Given the description of an element on the screen output the (x, y) to click on. 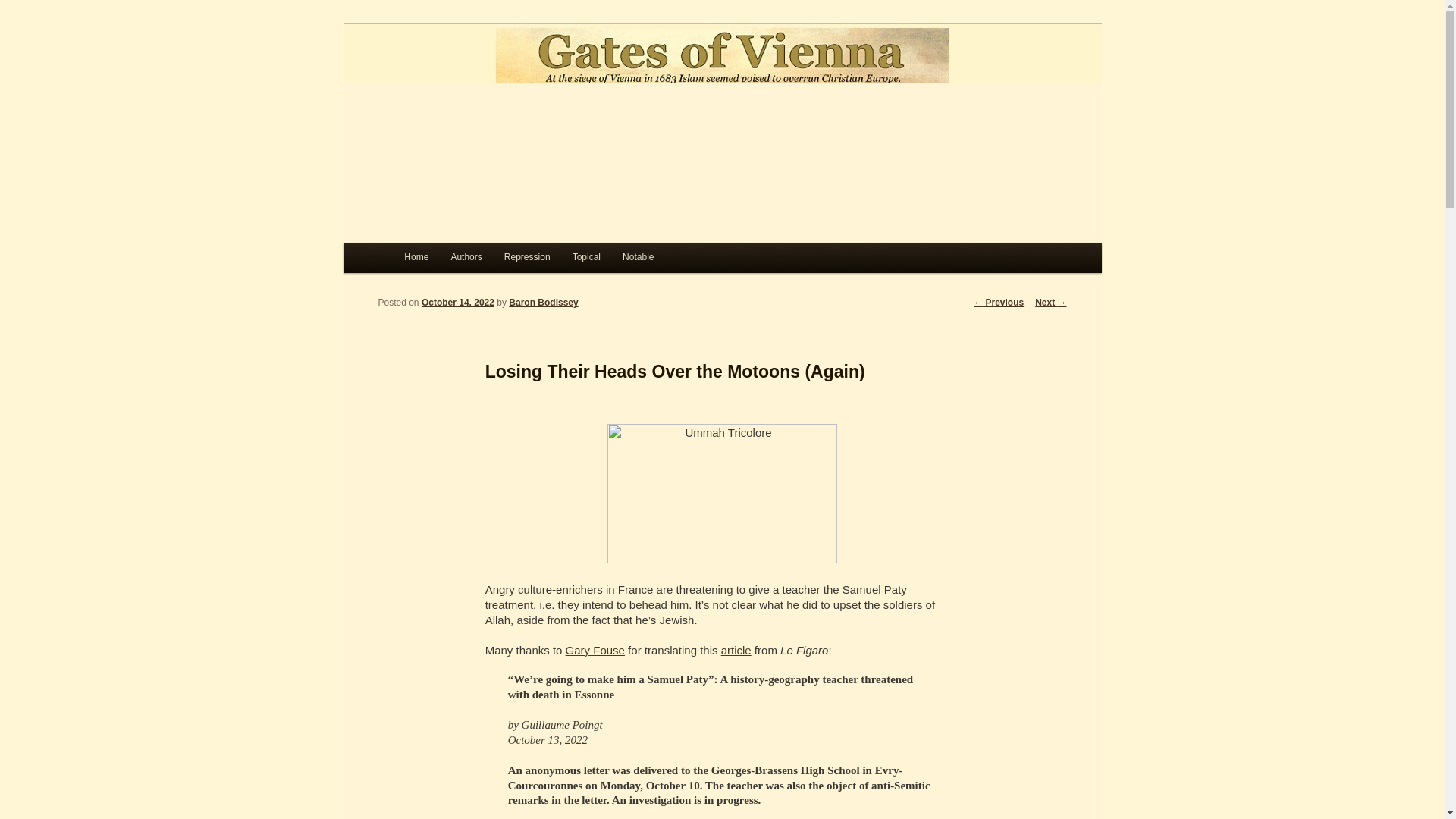
Topical (585, 257)
11:12 pm (458, 302)
Repression (526, 257)
Home (416, 257)
Skip to secondary content (479, 261)
Authors (466, 257)
View all posts by Baron Bodissey (543, 302)
Gates of Vienna (486, 78)
Skip to primary content (472, 261)
Gates of Vienna (486, 78)
Ummah Tricolore (722, 493)
Skip to primary content (472, 261)
Skip to secondary content (479, 261)
